Given the description of an element on the screen output the (x, y) to click on. 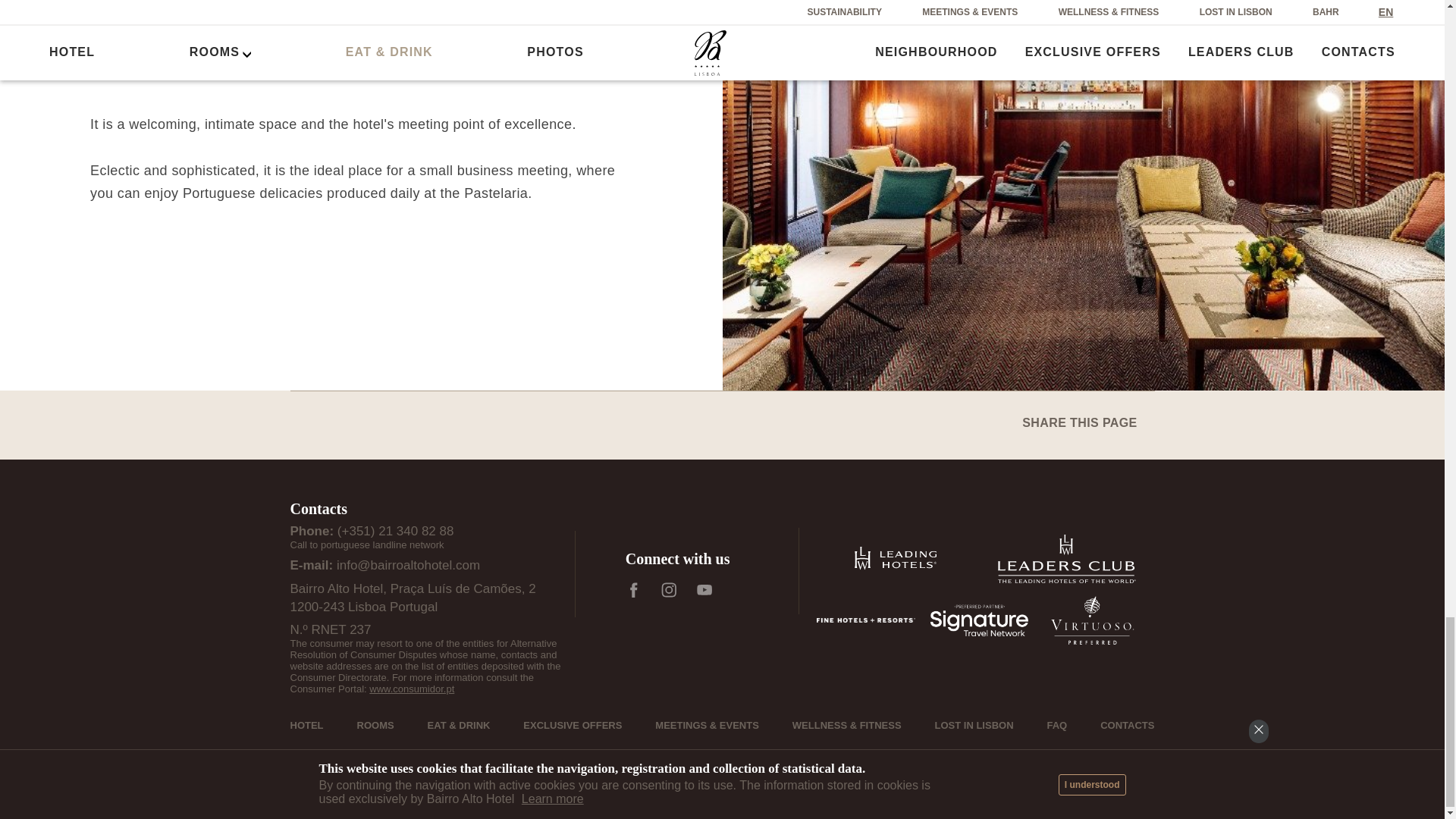
signature travel network (979, 620)
HOTEL (306, 725)
Leaders Club (1066, 558)
Instagram (669, 589)
www.consumidor.pt (411, 688)
Leading Hotels of the World (895, 558)
ROOMS (375, 725)
Virtuoso (1092, 620)
Youtube (704, 589)
Facebook (634, 589)
